Given the description of an element on the screen output the (x, y) to click on. 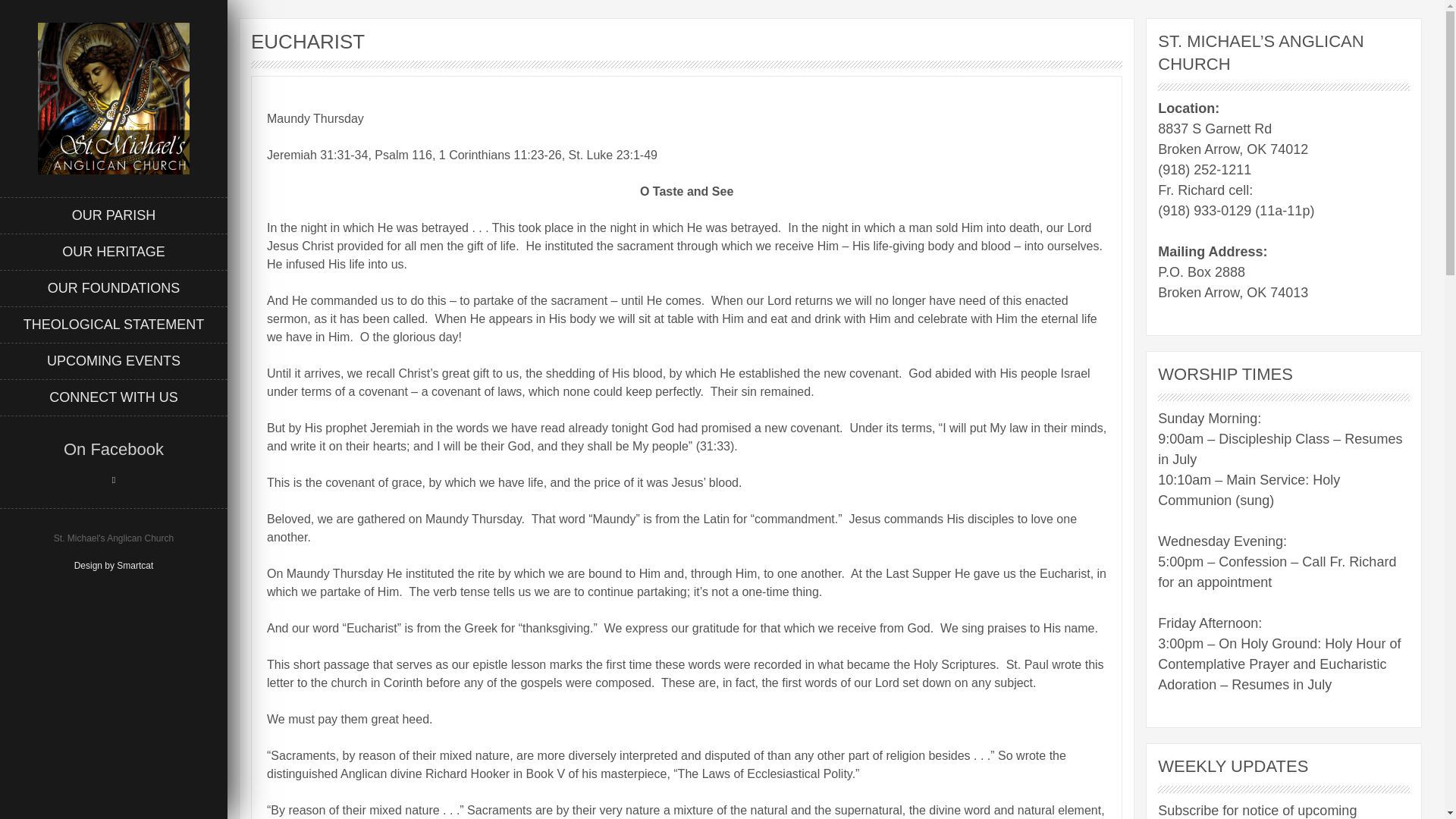
OUR HERITAGE (113, 251)
OUR FOUNDATIONS (113, 288)
CONNECT WITH US (113, 397)
THEOLOGICAL STATEMENT (113, 324)
UPCOMING EVENTS (113, 361)
Design by Smartcat (114, 565)
Search (29, 11)
OUR PARISH (113, 215)
